Given the description of an element on the screen output the (x, y) to click on. 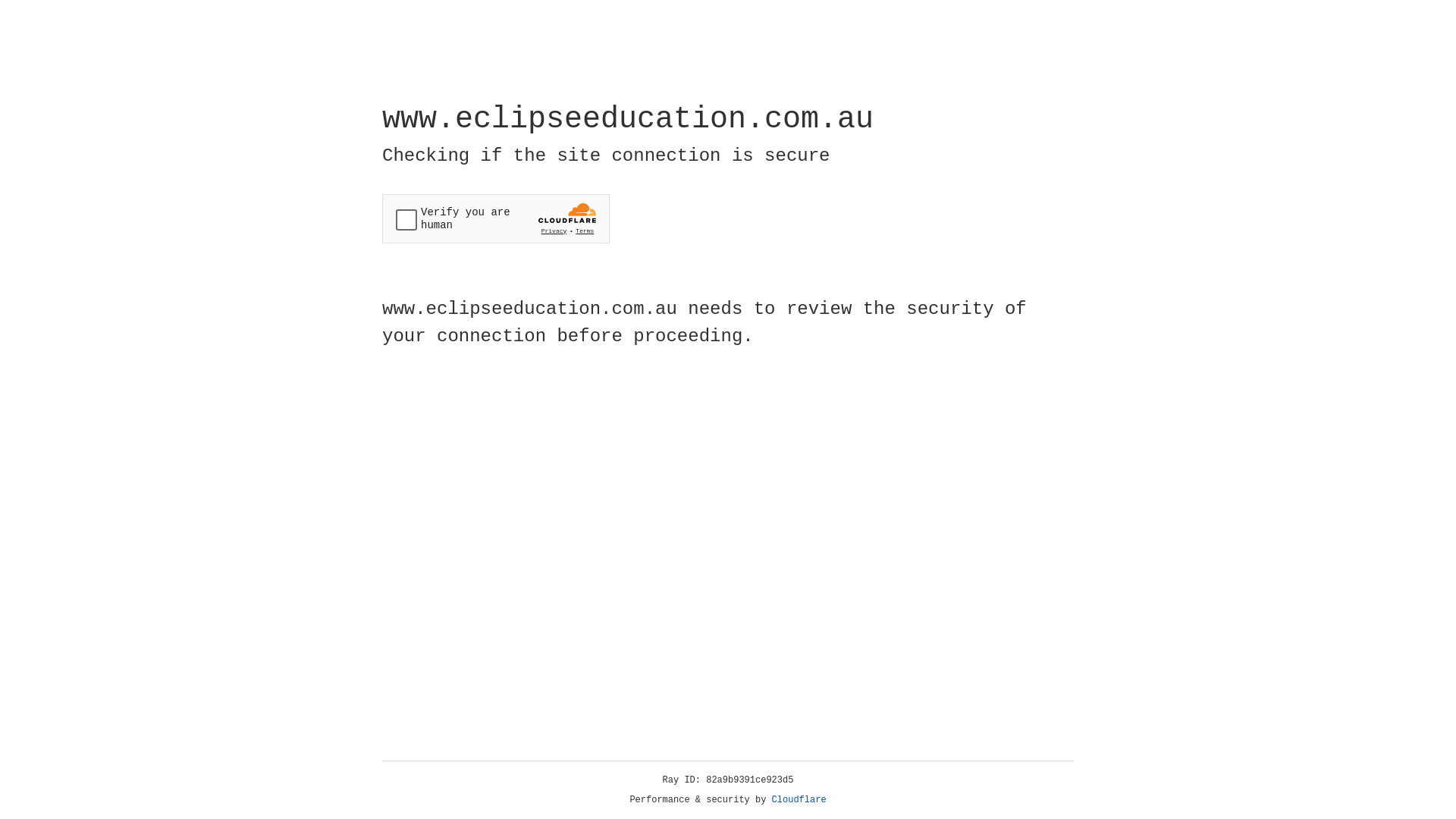
Widget containing a Cloudflare security challenge Element type: hover (495, 218)
Cloudflare Element type: text (798, 799)
